Given the description of an element on the screen output the (x, y) to click on. 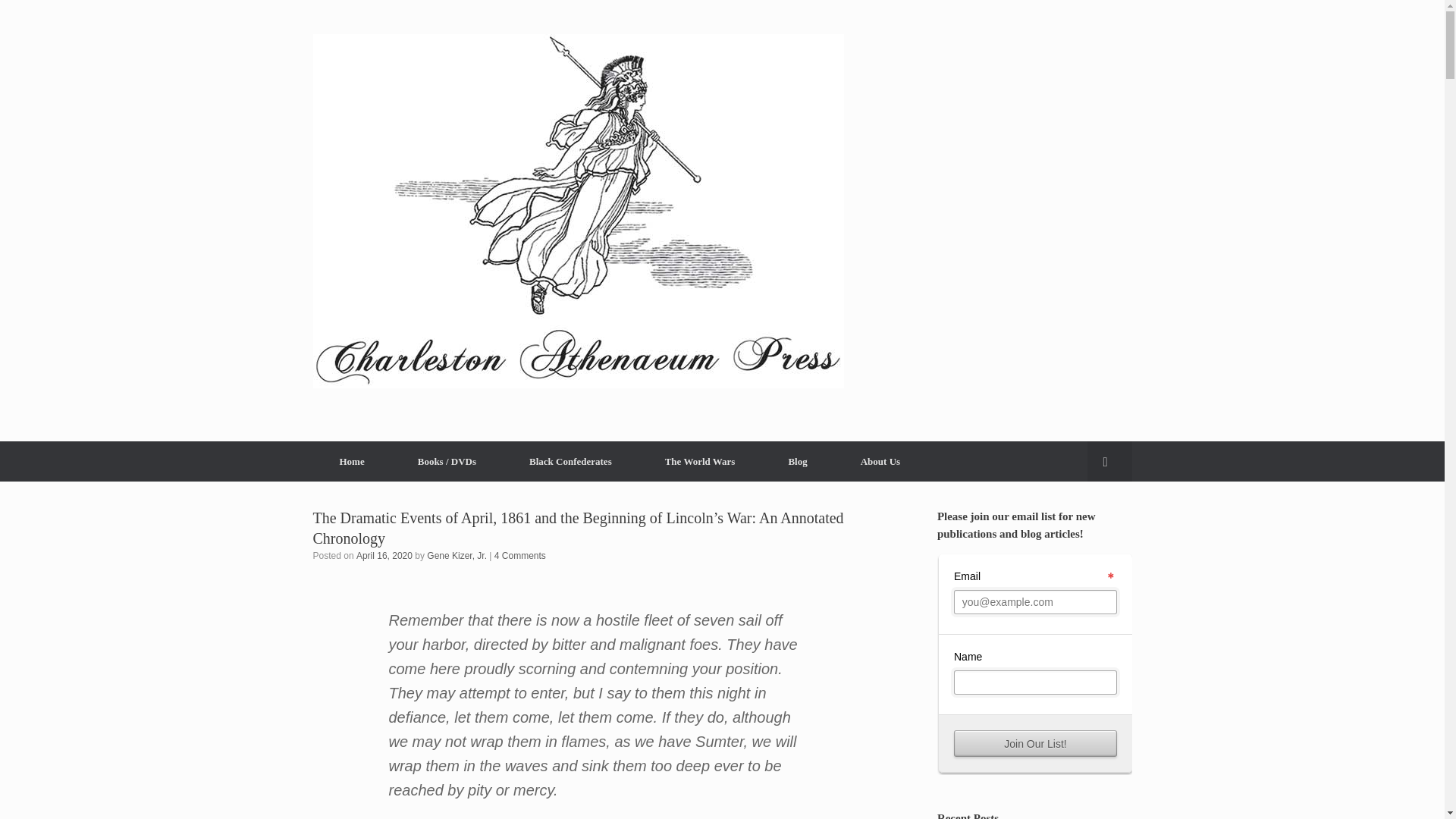
Blog (796, 461)
Black Confederates (570, 461)
About Us (880, 461)
View all posts by Gene Kizer, Jr. (456, 555)
4 Comments (520, 555)
The World Wars (700, 461)
Home (351, 461)
Gene Kizer, Jr. (456, 555)
1:59 am (384, 555)
April 16, 2020 (384, 555)
